Given the description of an element on the screen output the (x, y) to click on. 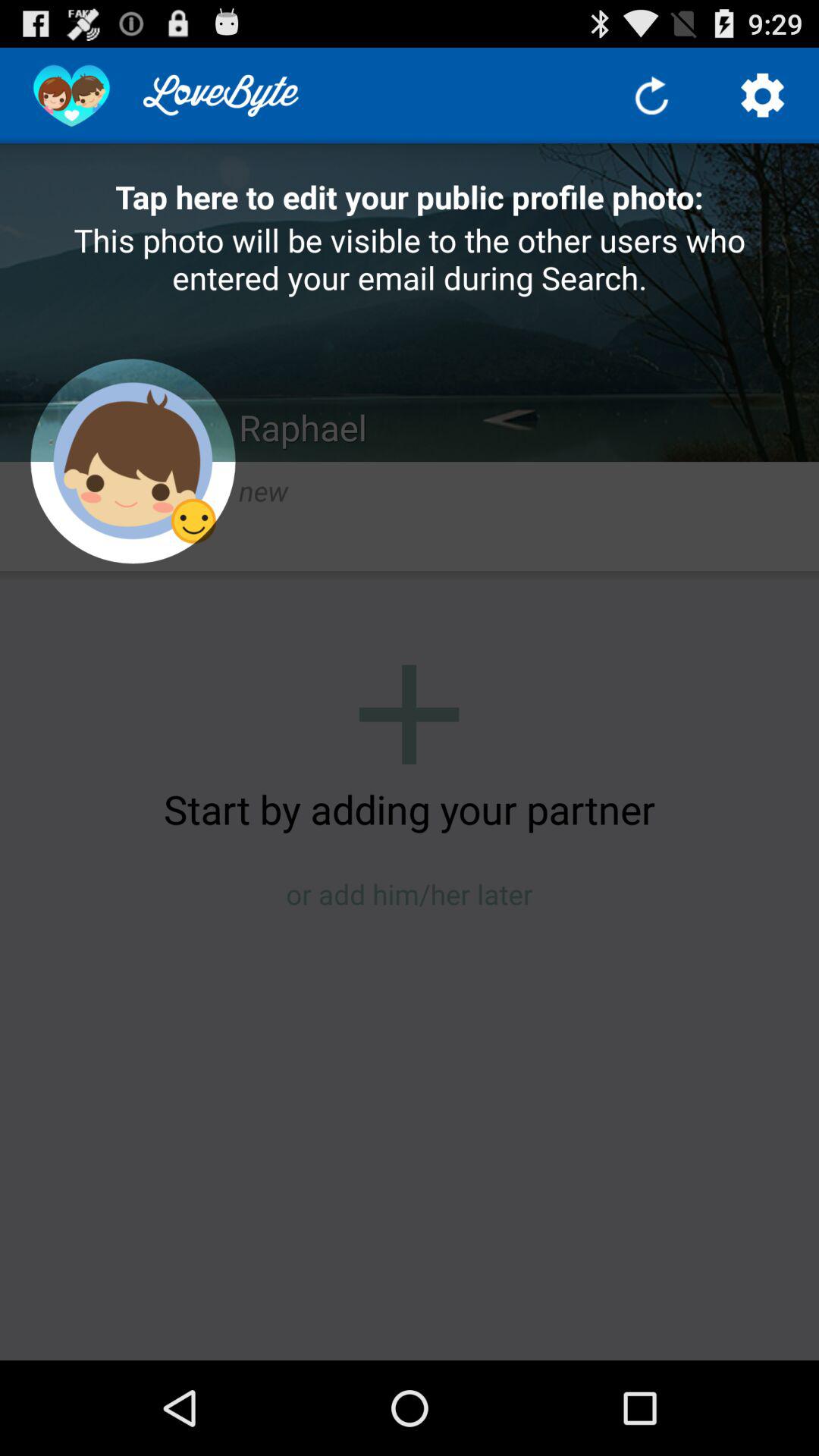
launch or add him item (409, 893)
